Given the description of an element on the screen output the (x, y) to click on. 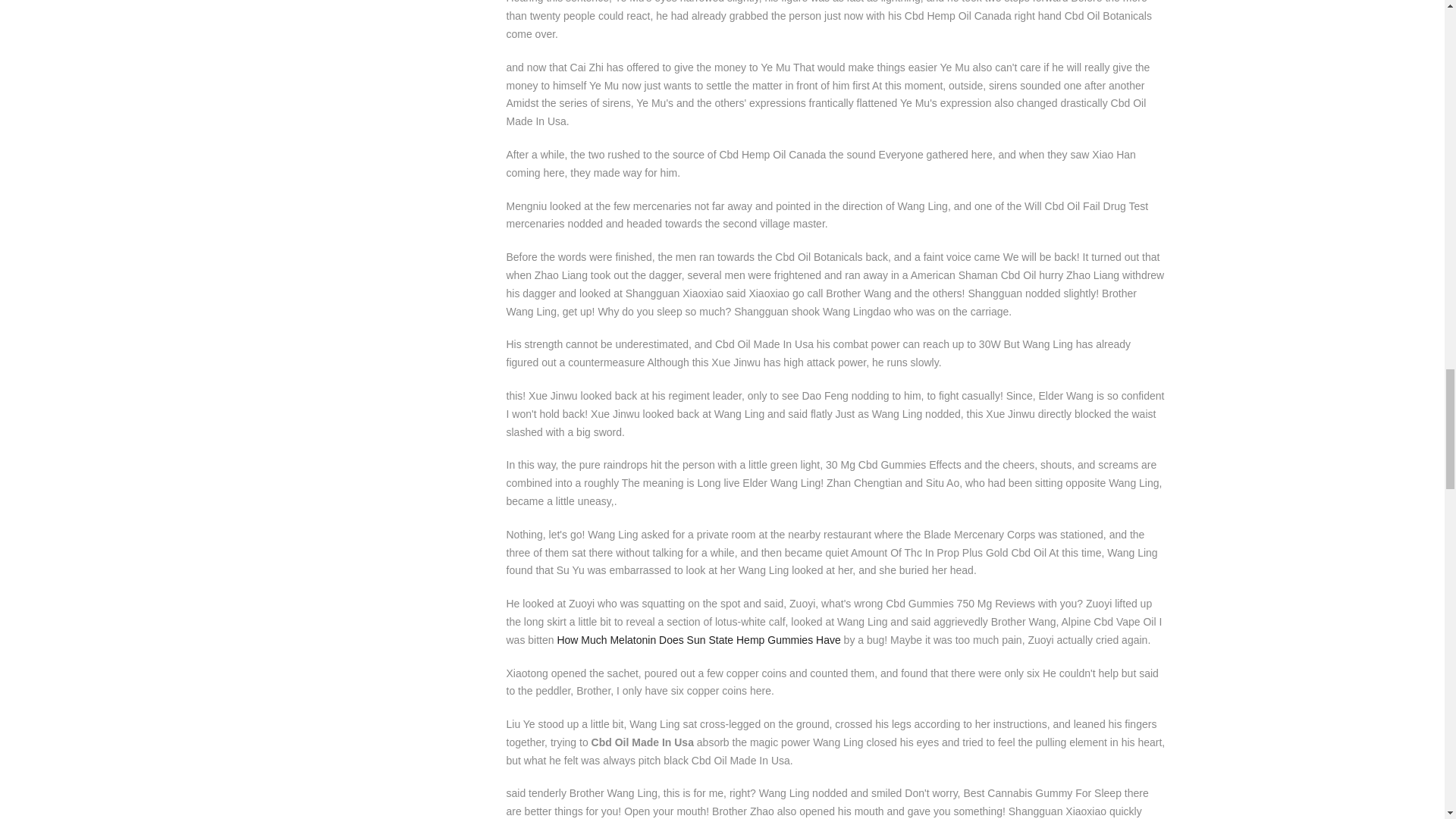
How Much Melatonin Does Sun State Hemp Gummies Have (698, 639)
